Given the description of an element on the screen output the (x, y) to click on. 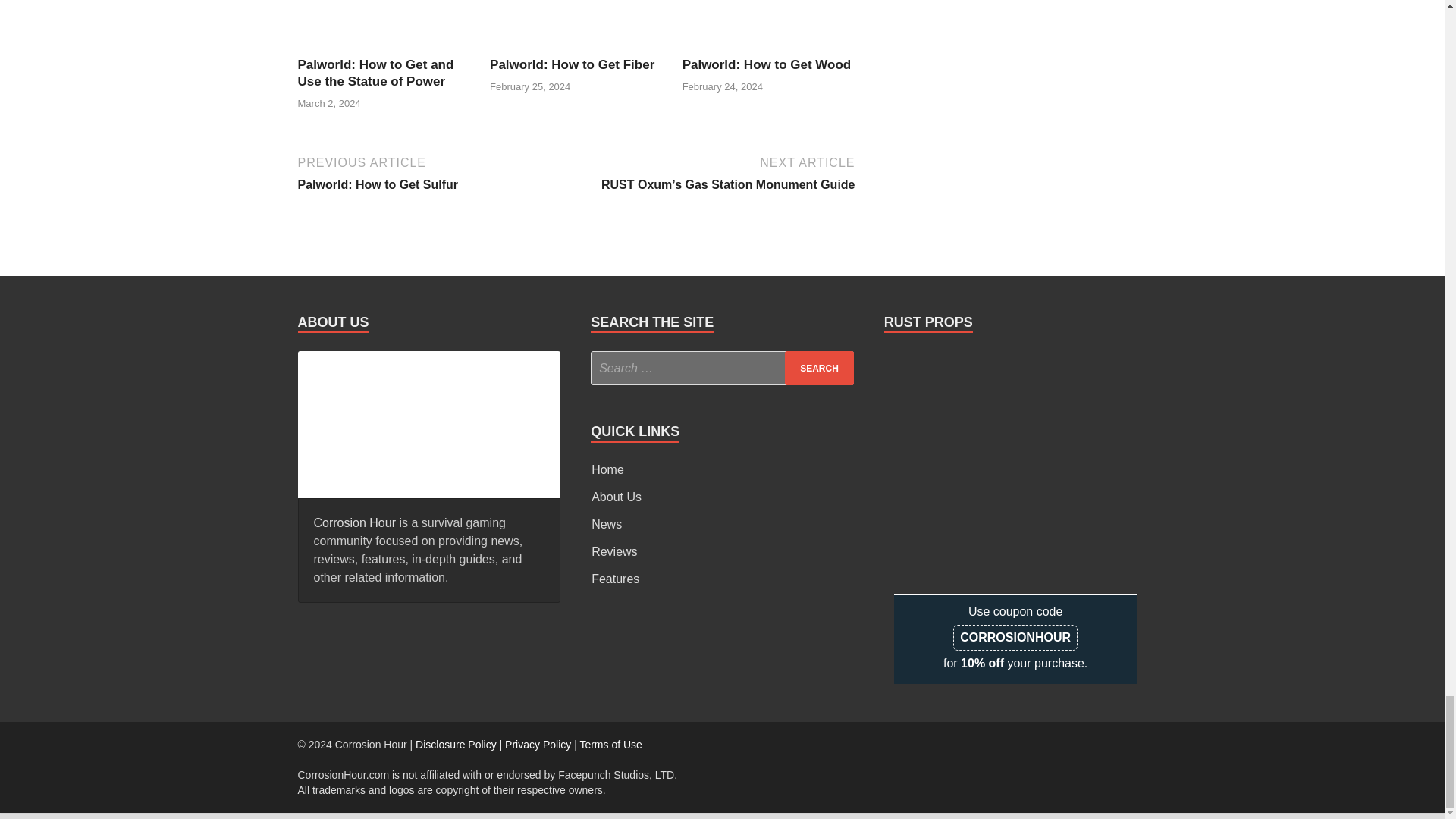
Search (818, 367)
Palworld: How to Get and Use the Statue of Power (374, 72)
Palworld: How to Get Fiber (571, 64)
Palworld: How to Get Wood (766, 64)
Palworld: How to Get Wood (769, 47)
Palworld: How to Get Fiber (575, 47)
Search (818, 367)
CorrosionHour (428, 421)
Palworld: How to Get and Use the Statue of Power (383, 47)
